Given the description of an element on the screen output the (x, y) to click on. 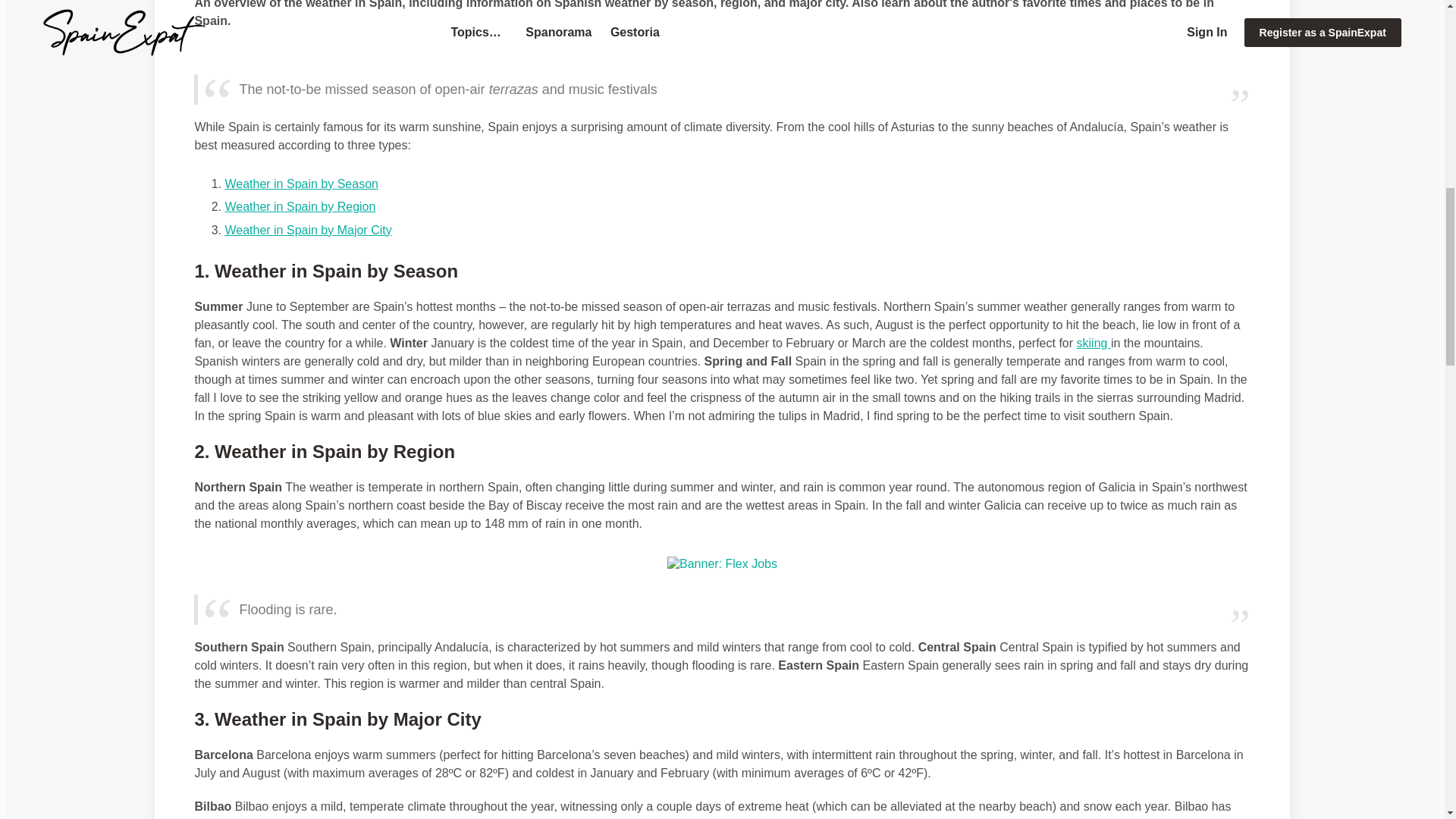
skiing (1093, 342)
Weather in Spain by Season (301, 183)
Weather in Spain by Region (299, 205)
Weather in Spain by Major City (307, 229)
